Given the description of an element on the screen output the (x, y) to click on. 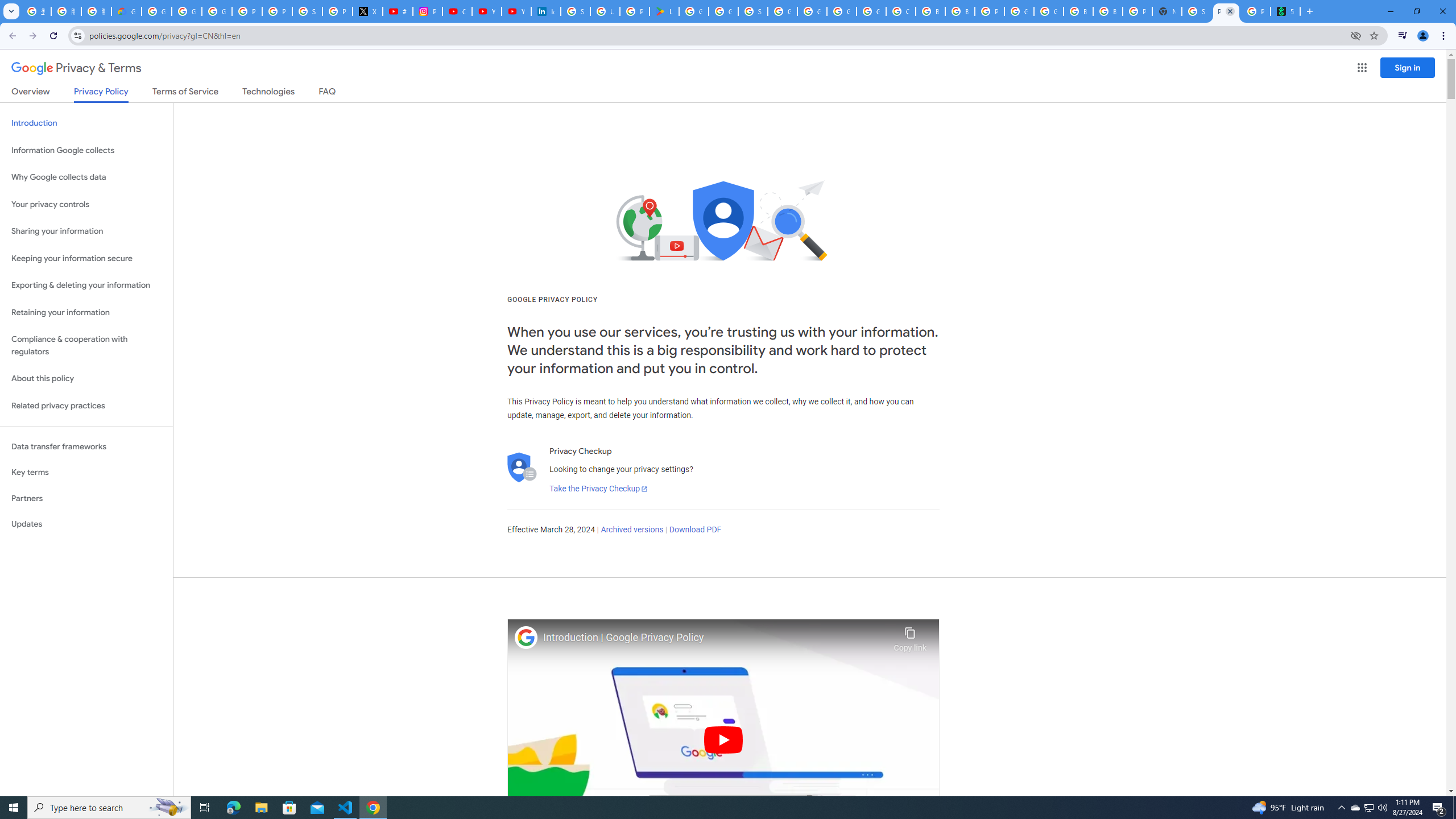
Photo image of Google (526, 636)
About this policy (86, 379)
Google Cloud Platform (1048, 11)
Keeping your information secure (86, 258)
Retaining your information (86, 312)
Related privacy practices (86, 405)
